Given the description of an element on the screen output the (x, y) to click on. 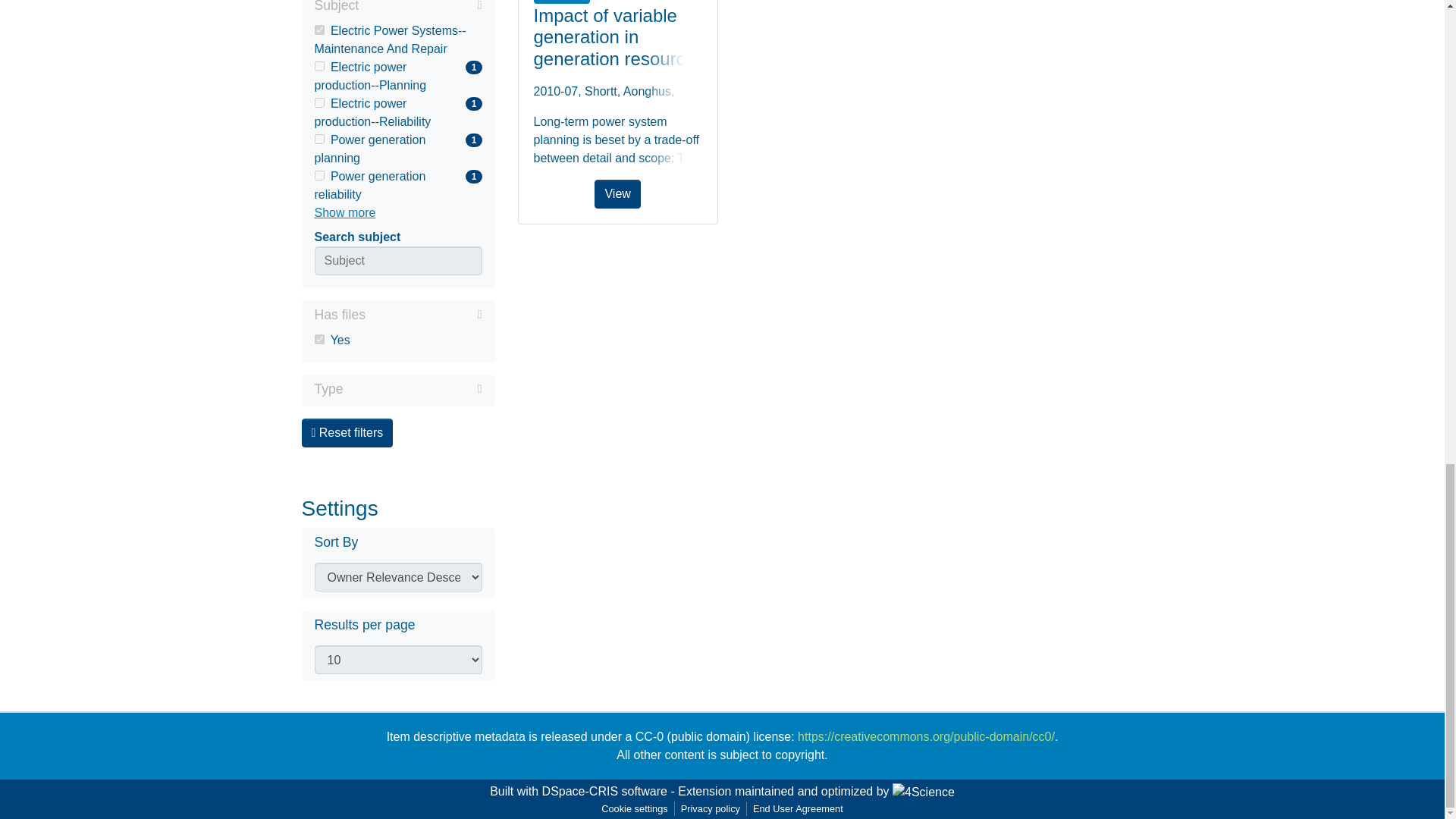
on (318, 30)
on (318, 175)
on (318, 102)
on (397, 149)
Electric Power Systems--Maintenance And Repair (318, 139)
on (397, 40)
Expand filter (318, 66)
Collapse filter (397, 76)
Collapse filter (412, 389)
Subject (423, 314)
on (419, 7)
